Given the description of an element on the screen output the (x, y) to click on. 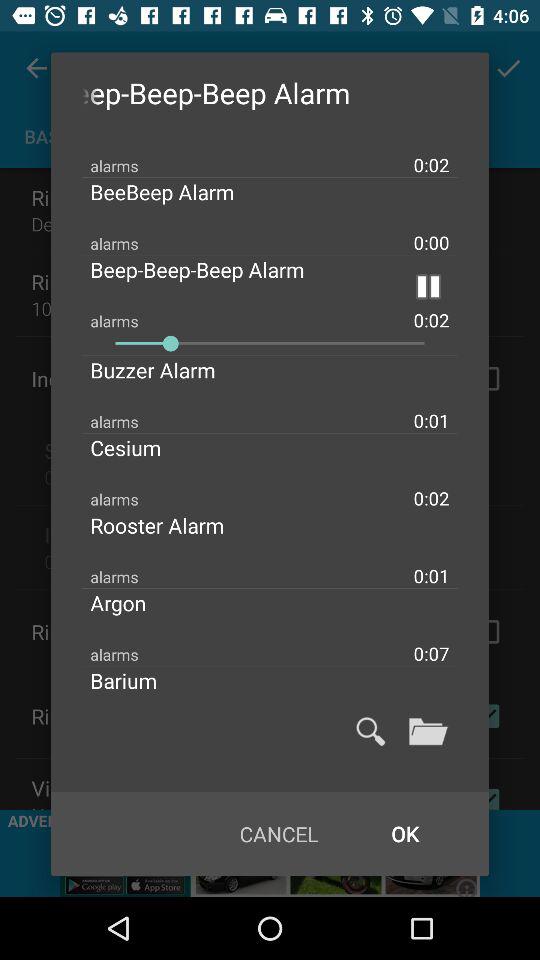
select ok (404, 833)
